Given the description of an element on the screen output the (x, y) to click on. 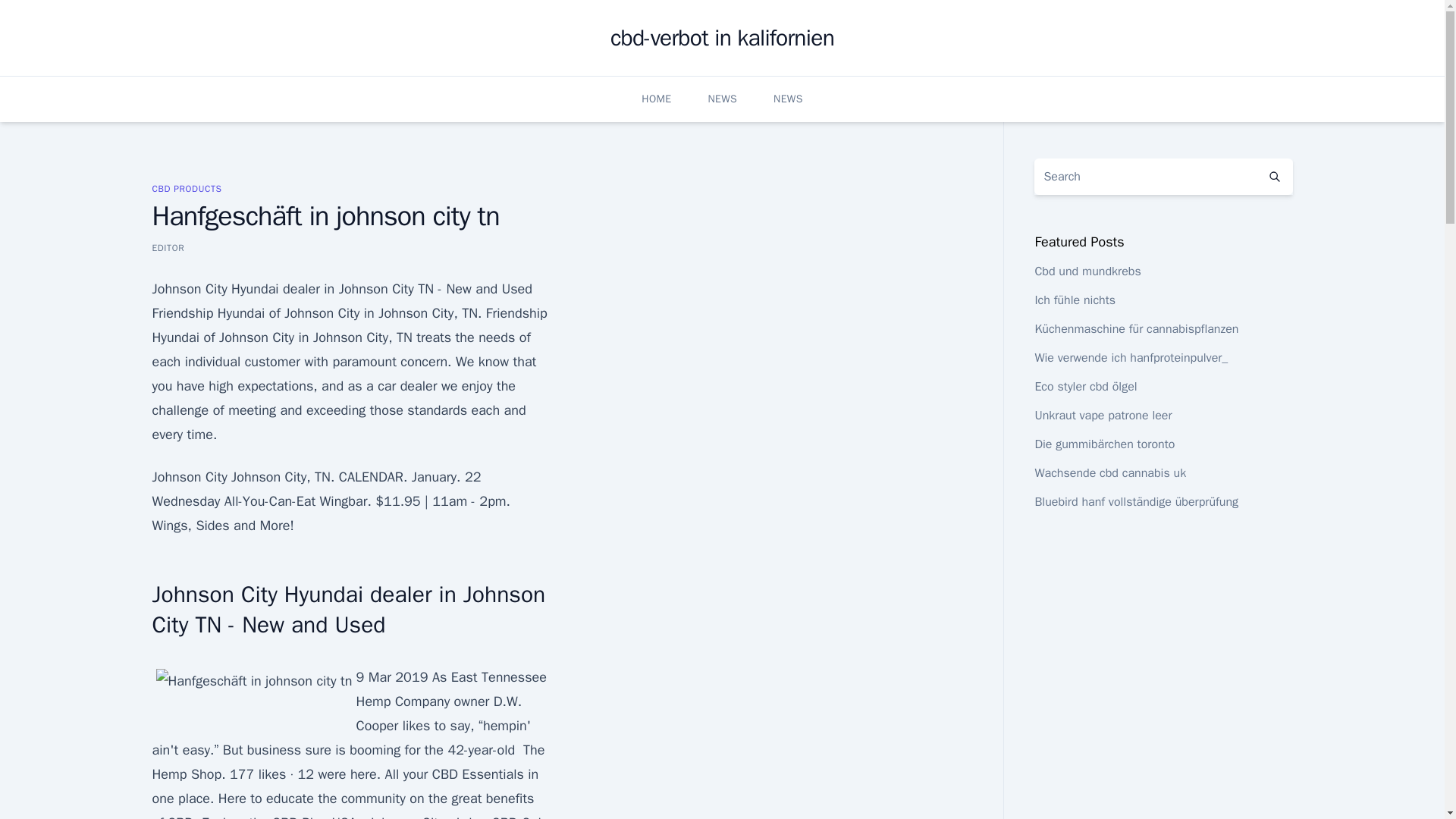
Wachsende cbd cannabis uk (1109, 473)
cbd-verbot in kalifornien (722, 37)
CBD PRODUCTS (186, 188)
EDITOR (167, 247)
Cbd und mundkrebs (1086, 271)
Unkraut vape patrone leer (1102, 415)
